Given the description of an element on the screen output the (x, y) to click on. 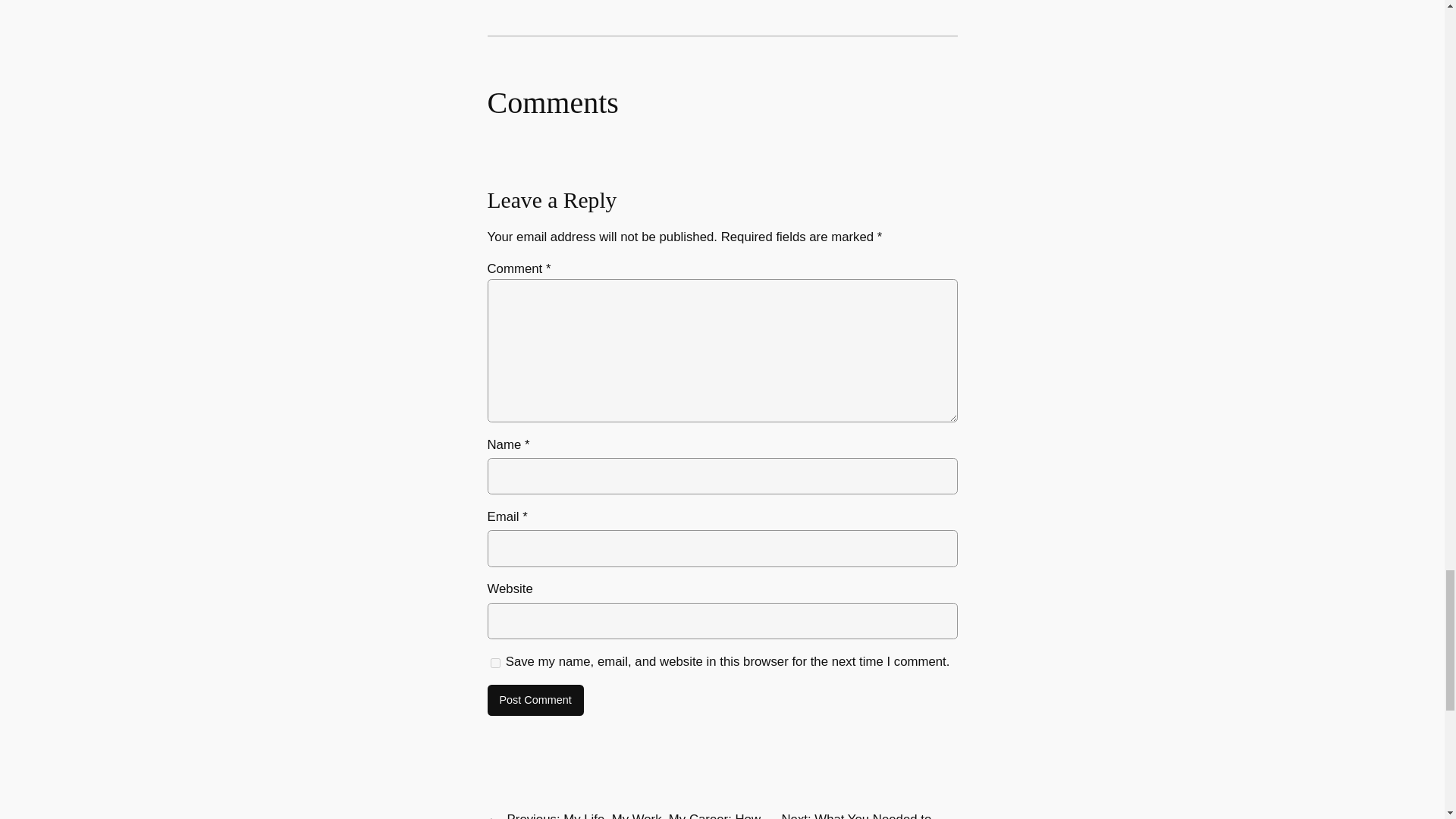
Post Comment (534, 700)
Post Comment (534, 700)
